Given the description of an element on the screen output the (x, y) to click on. 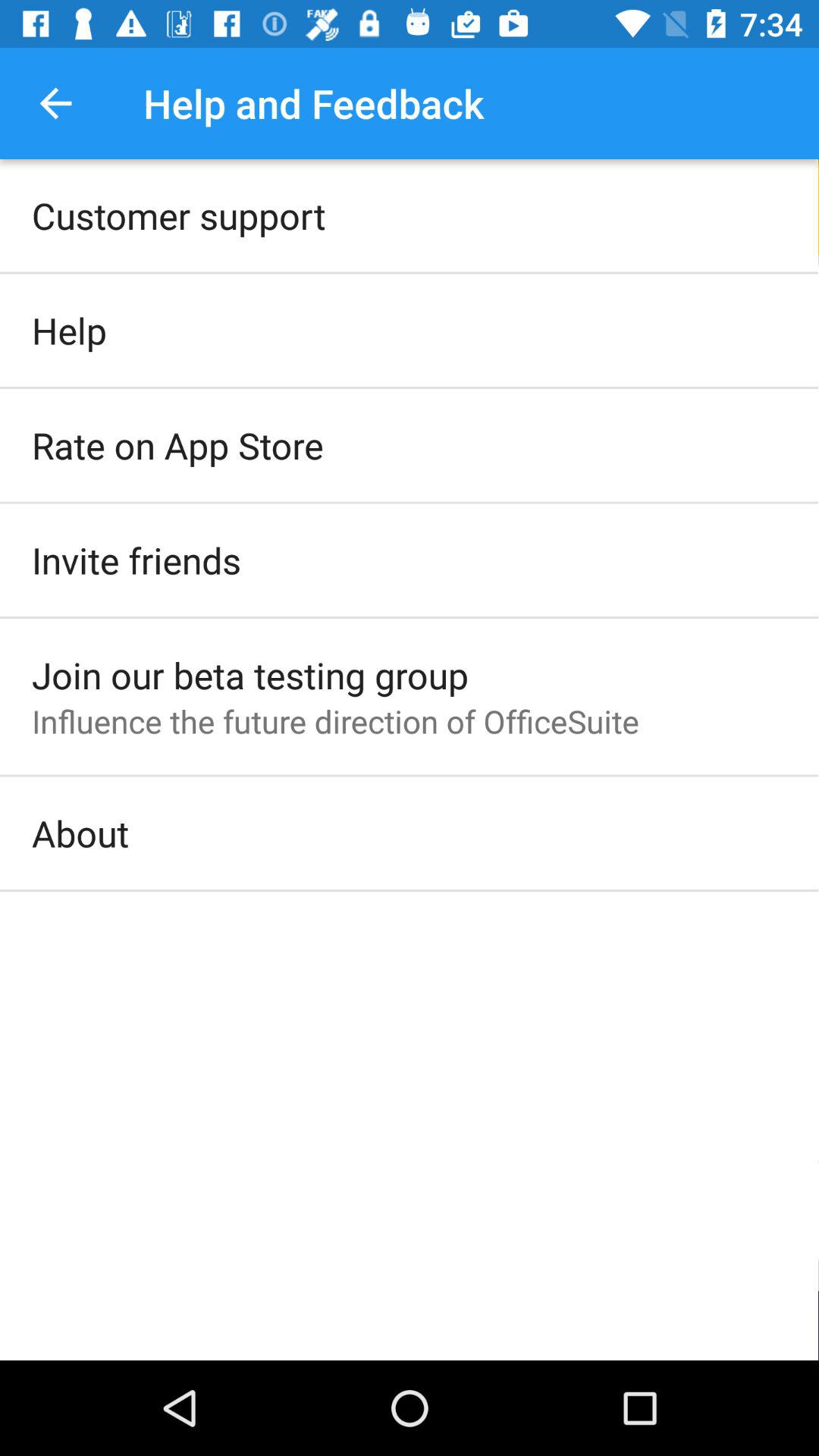
go back (55, 103)
